Given the description of an element on the screen output the (x, y) to click on. 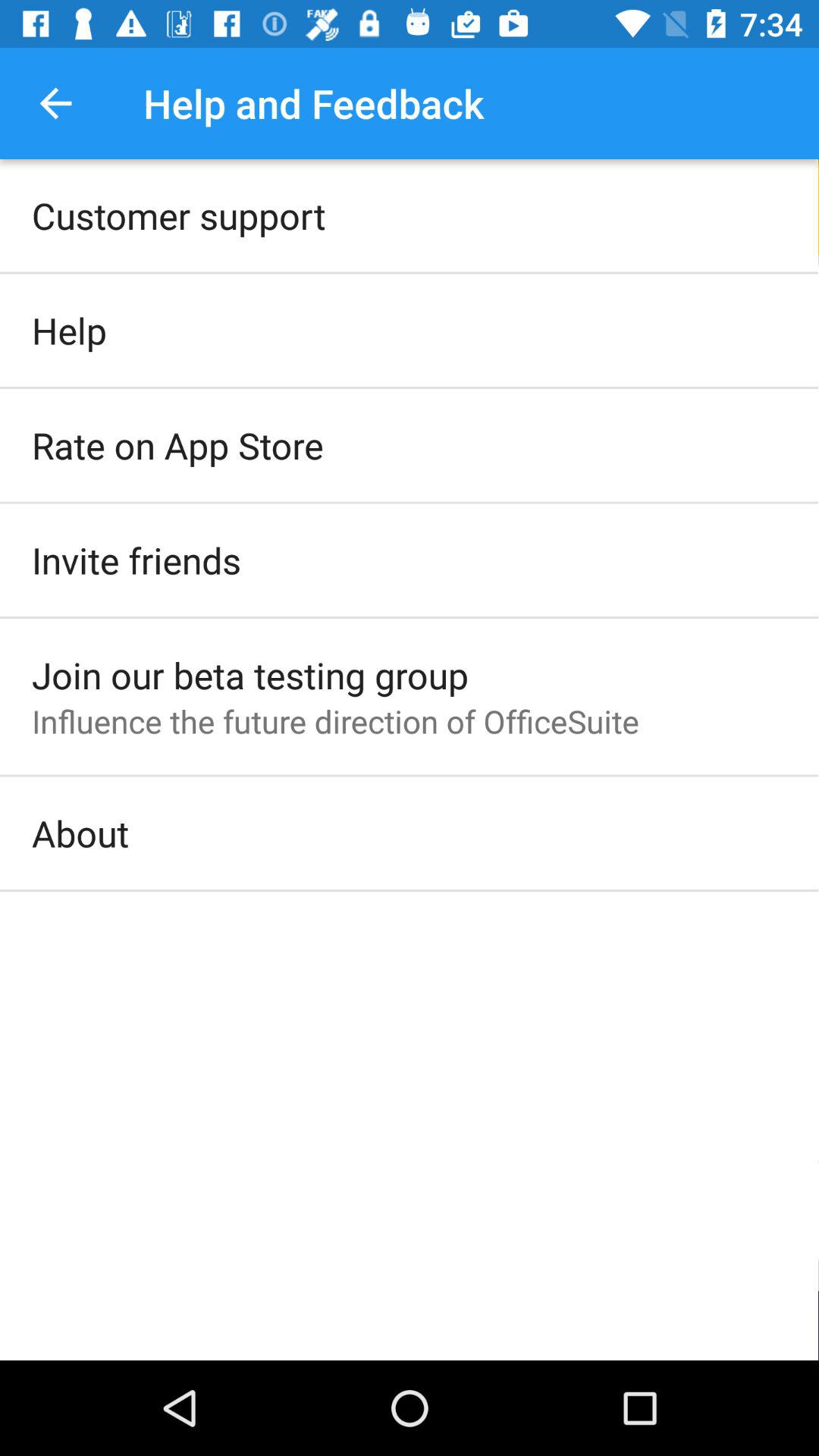
go back (55, 103)
